Given the description of an element on the screen output the (x, y) to click on. 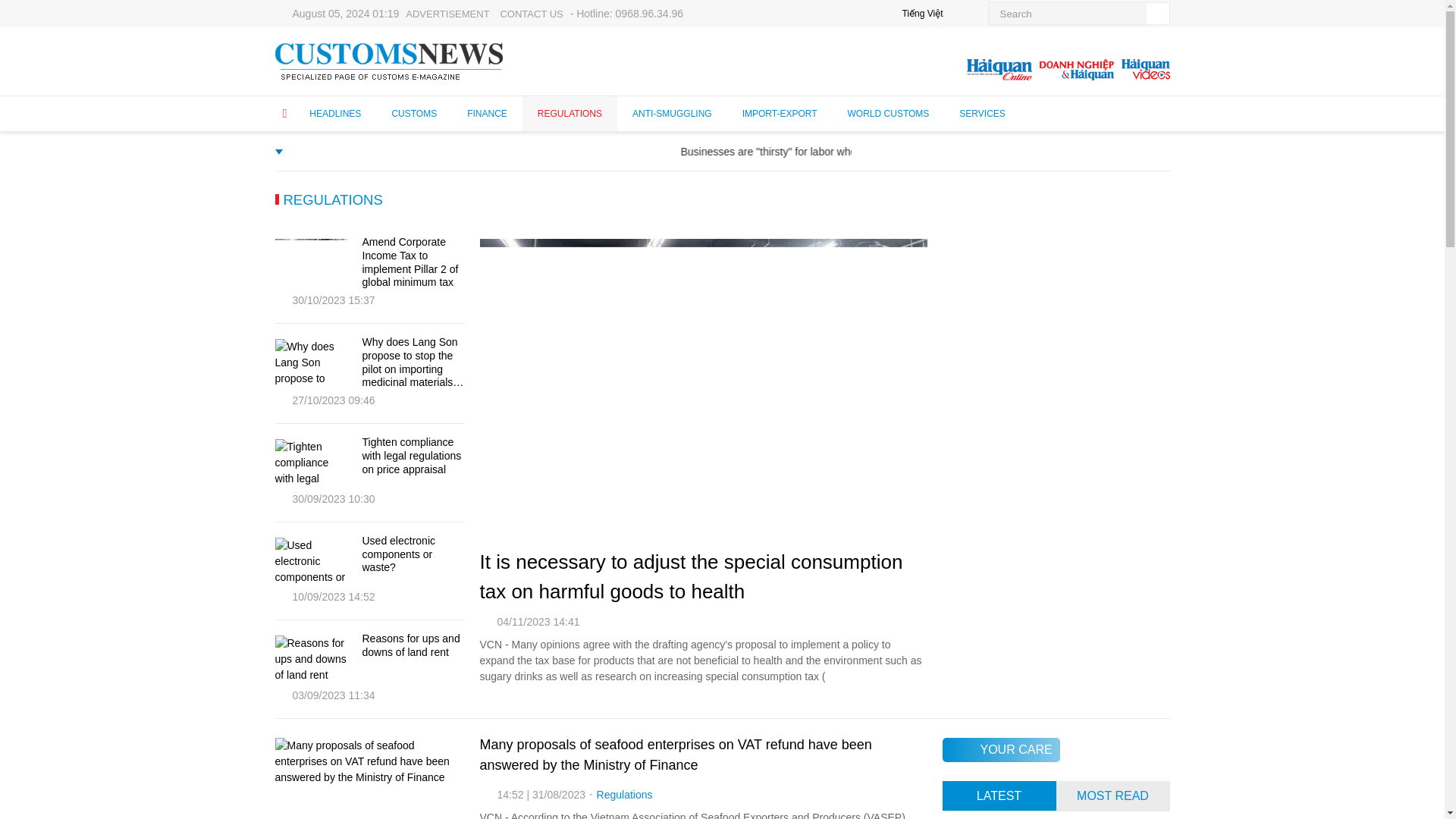
WORLD CUSTOMS (888, 113)
Tighten compliance with legal regulations on price appraisal (413, 455)
HEADLINES (334, 113)
ADVERTISEMENT (447, 13)
Reasons for ups and downs of land rent (413, 646)
